Given the description of an element on the screen output the (x, y) to click on. 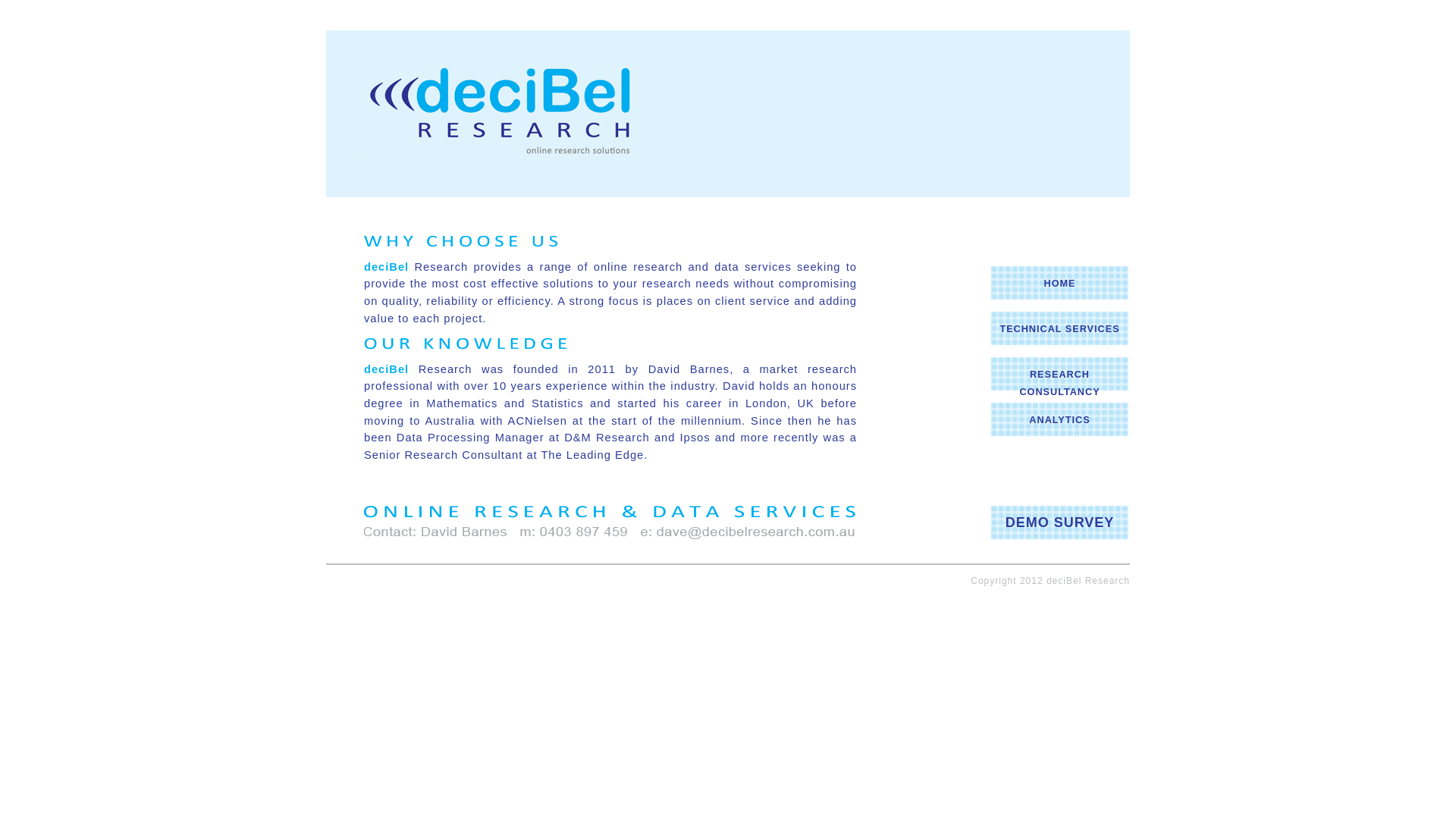
HOME Element type: text (1060, 283)
RESEARCH CONSULTANCY Element type: text (1059, 383)
ANALYTICS Element type: text (1059, 419)
TECHNICAL SERVICES Element type: text (1059, 328)
DEMO SURVEY Element type: text (1059, 522)
